Given the description of an element on the screen output the (x, y) to click on. 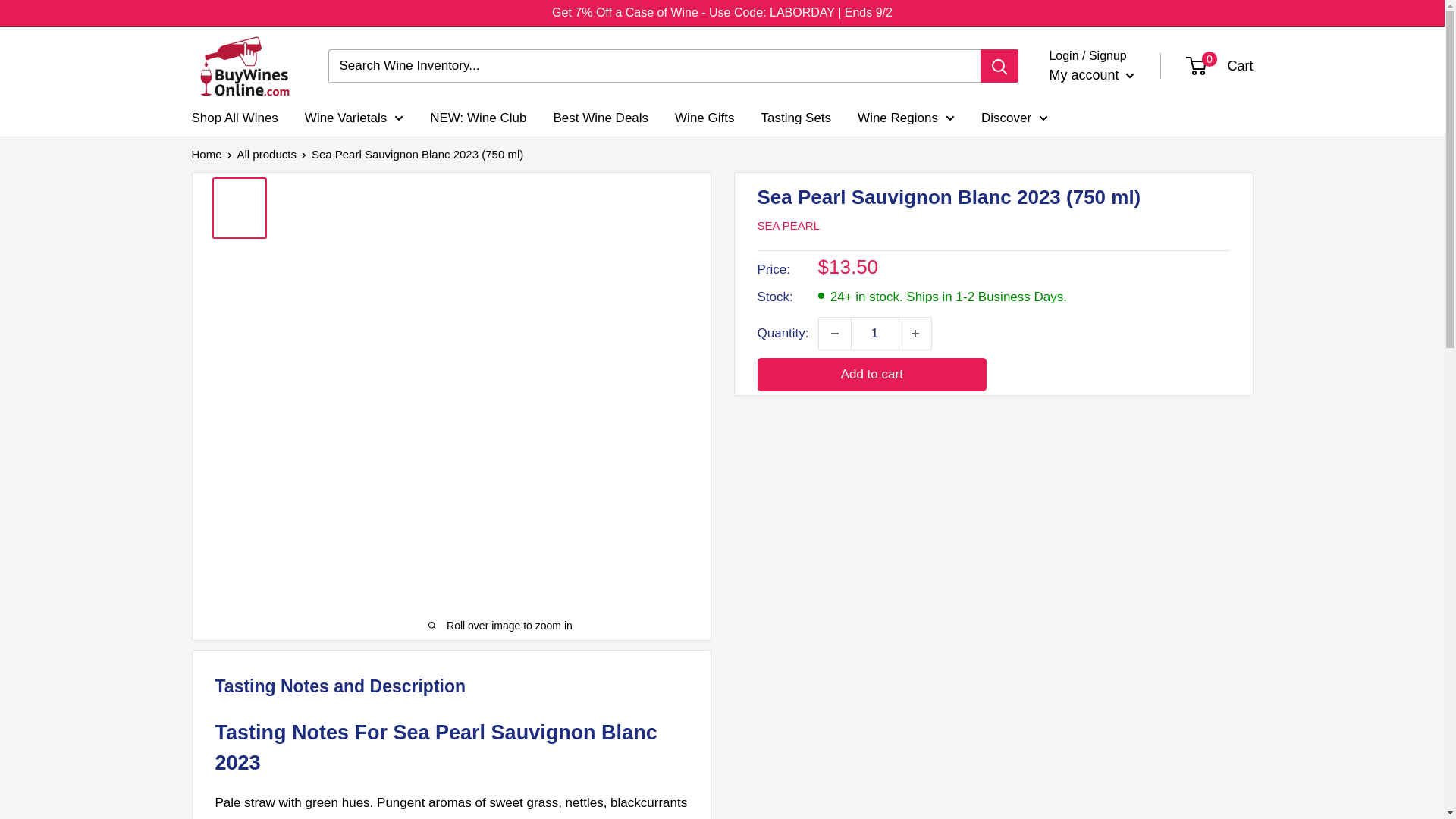
Decrease quantity by 1 (834, 333)
Increase quantity by 1 (915, 333)
1 (874, 333)
